Given the description of an element on the screen output the (x, y) to click on. 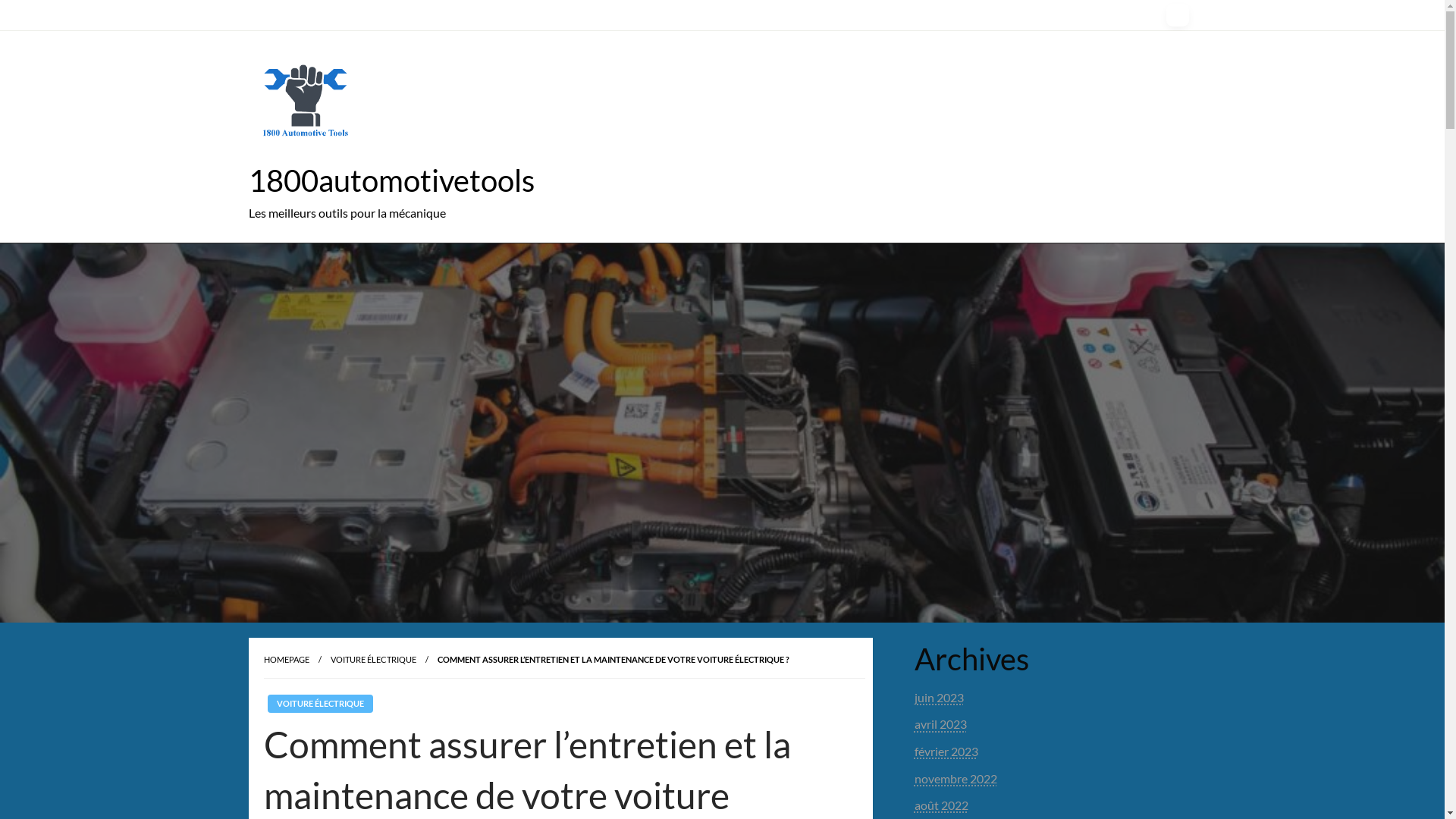
HOMEPAGE Element type: text (286, 659)
juin 2023 Element type: text (938, 697)
1800automotivetools Element type: text (391, 180)
avril 2023 Element type: text (940, 723)
novembre 2022 Element type: text (955, 778)
